Given the description of an element on the screen output the (x, y) to click on. 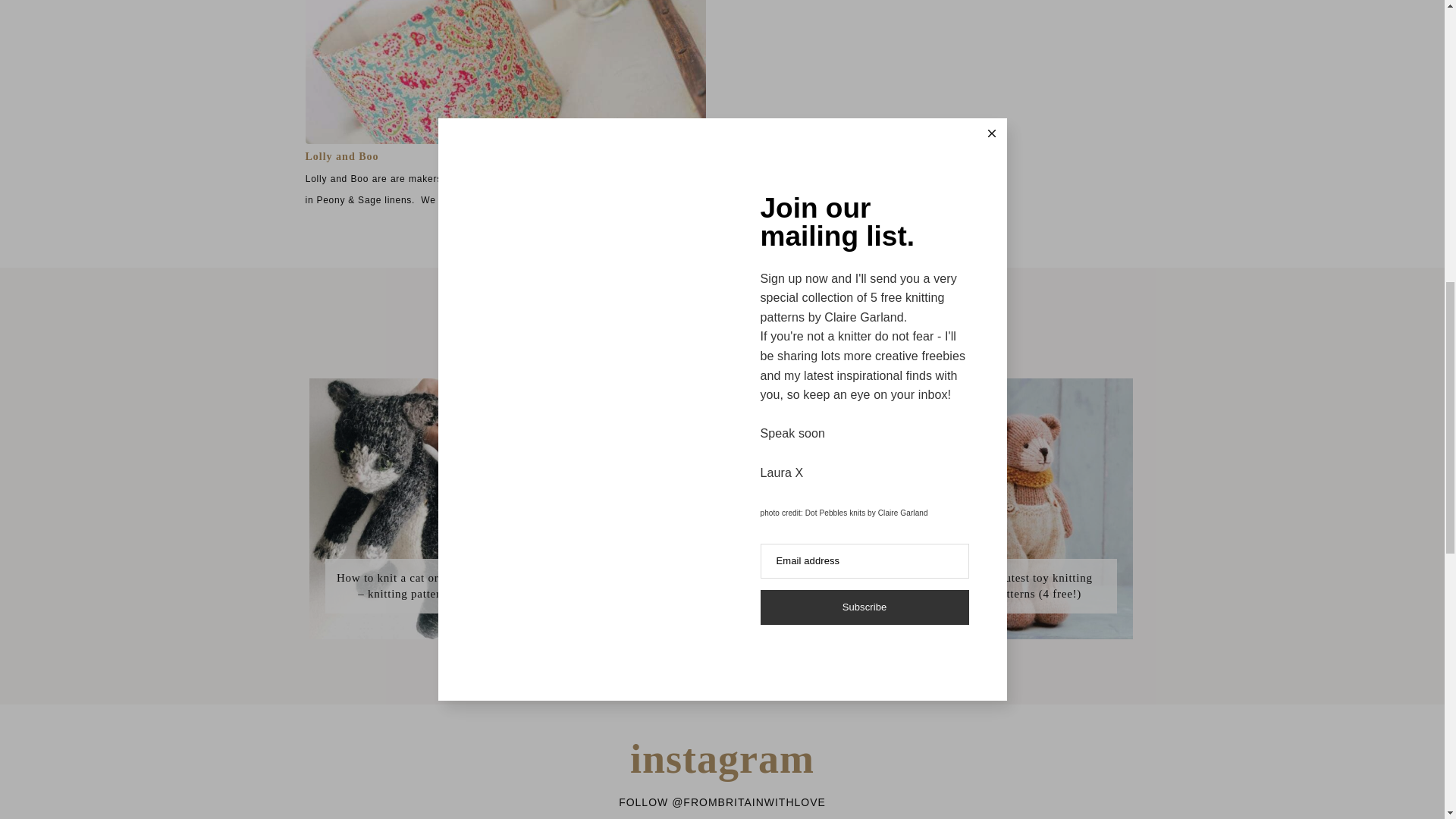
View: Lolly and Boo (341, 156)
lolly-and-boo2 (504, 72)
